Given the description of an element on the screen output the (x, y) to click on. 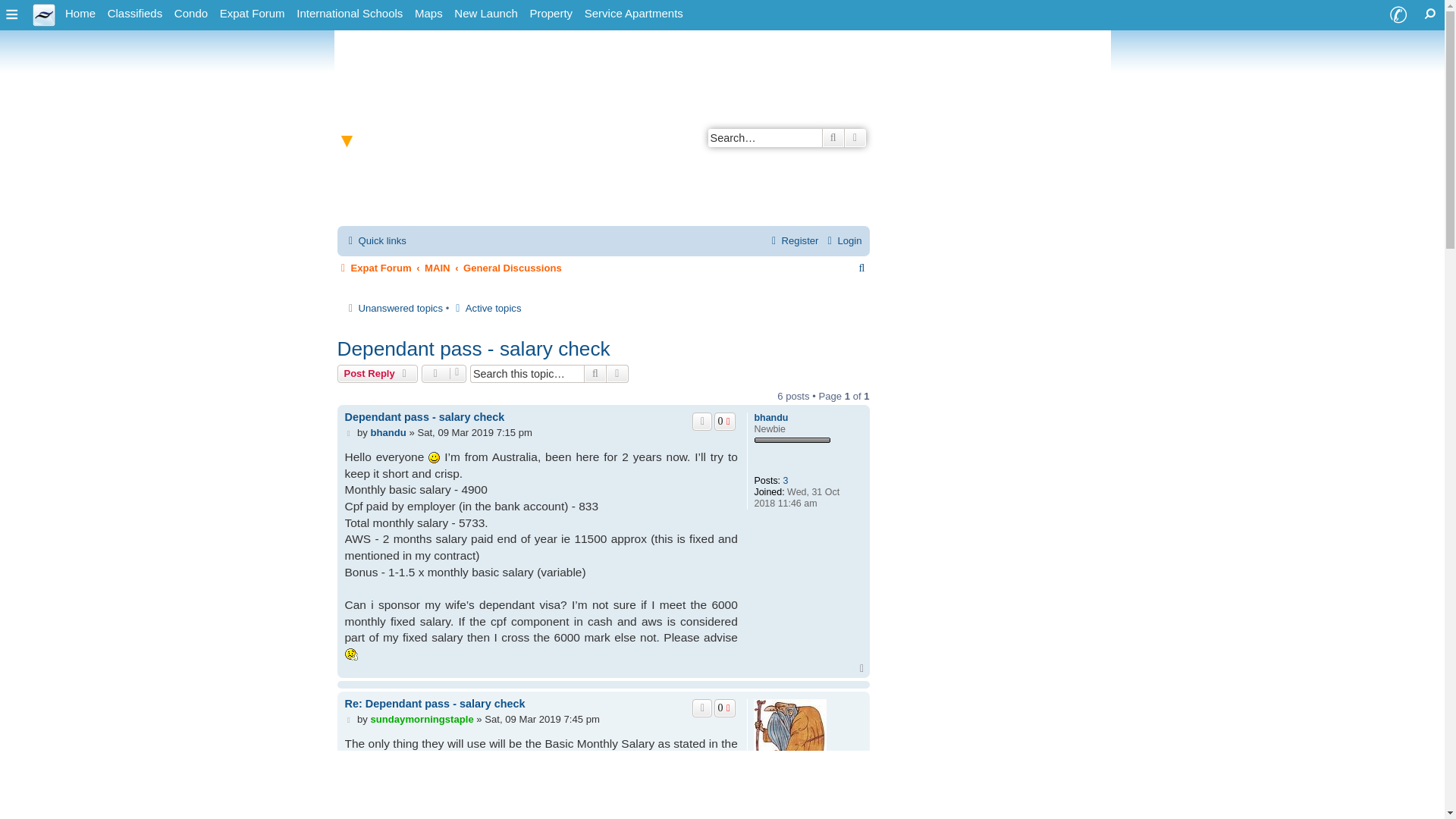
Property (550, 13)
Singapore International Schools (349, 13)
Singapore Street Maps (428, 13)
Singapore Expats Forum (252, 13)
Singapore Classified Ads (135, 13)
Singapore Property (550, 13)
Singapore Expats (44, 13)
Classifieds (135, 13)
Service Apartments (633, 13)
Condo (191, 13)
New Launch (485, 13)
Singapore Expats (80, 13)
International Schools (349, 13)
Expat Forum (252, 13)
New Property Launch (485, 13)
